Given the description of an element on the screen output the (x, y) to click on. 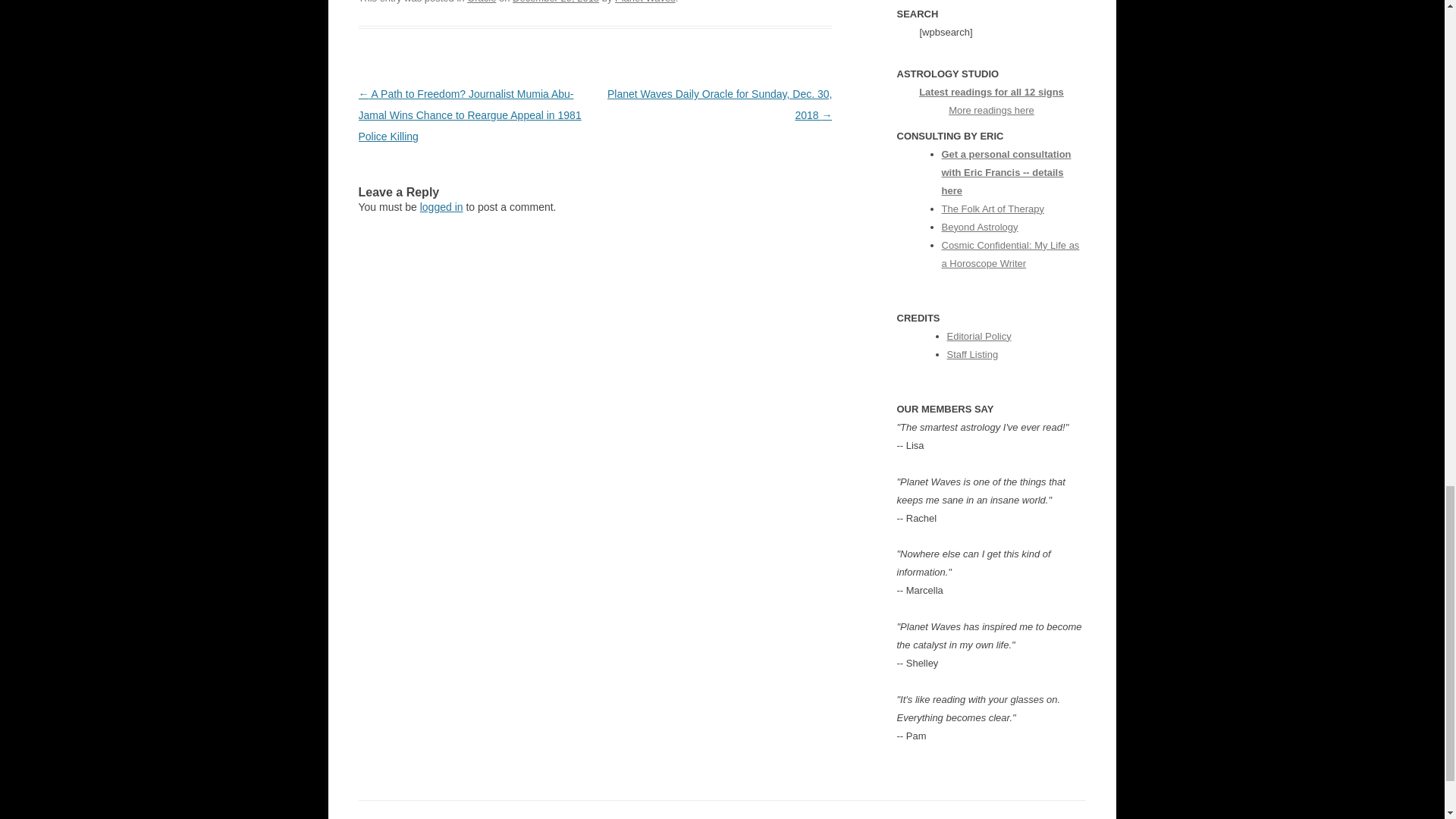
logged in (441, 206)
12:00 am (555, 2)
Planet Waves (644, 2)
View all posts by Planet Waves (644, 2)
Oracle (481, 2)
December 29, 2018 (555, 2)
